Given the description of an element on the screen output the (x, y) to click on. 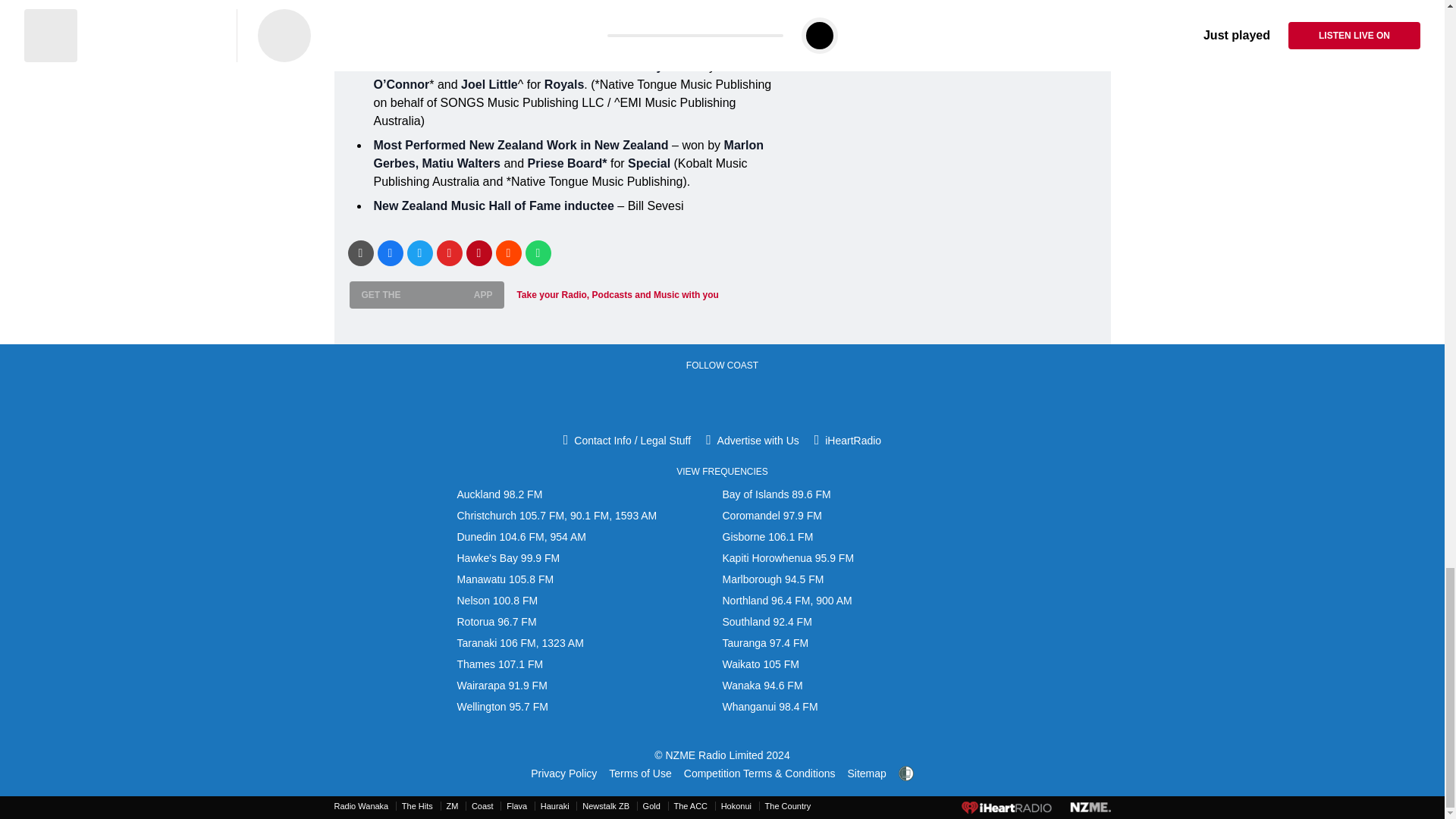
Share with flipboard (449, 252)
Share with pinterest (478, 252)
Share with reddit (508, 252)
Share with whatsapp (537, 252)
Share with facebook (390, 252)
Share with twitter (419, 252)
Share with email (359, 252)
